Given the description of an element on the screen output the (x, y) to click on. 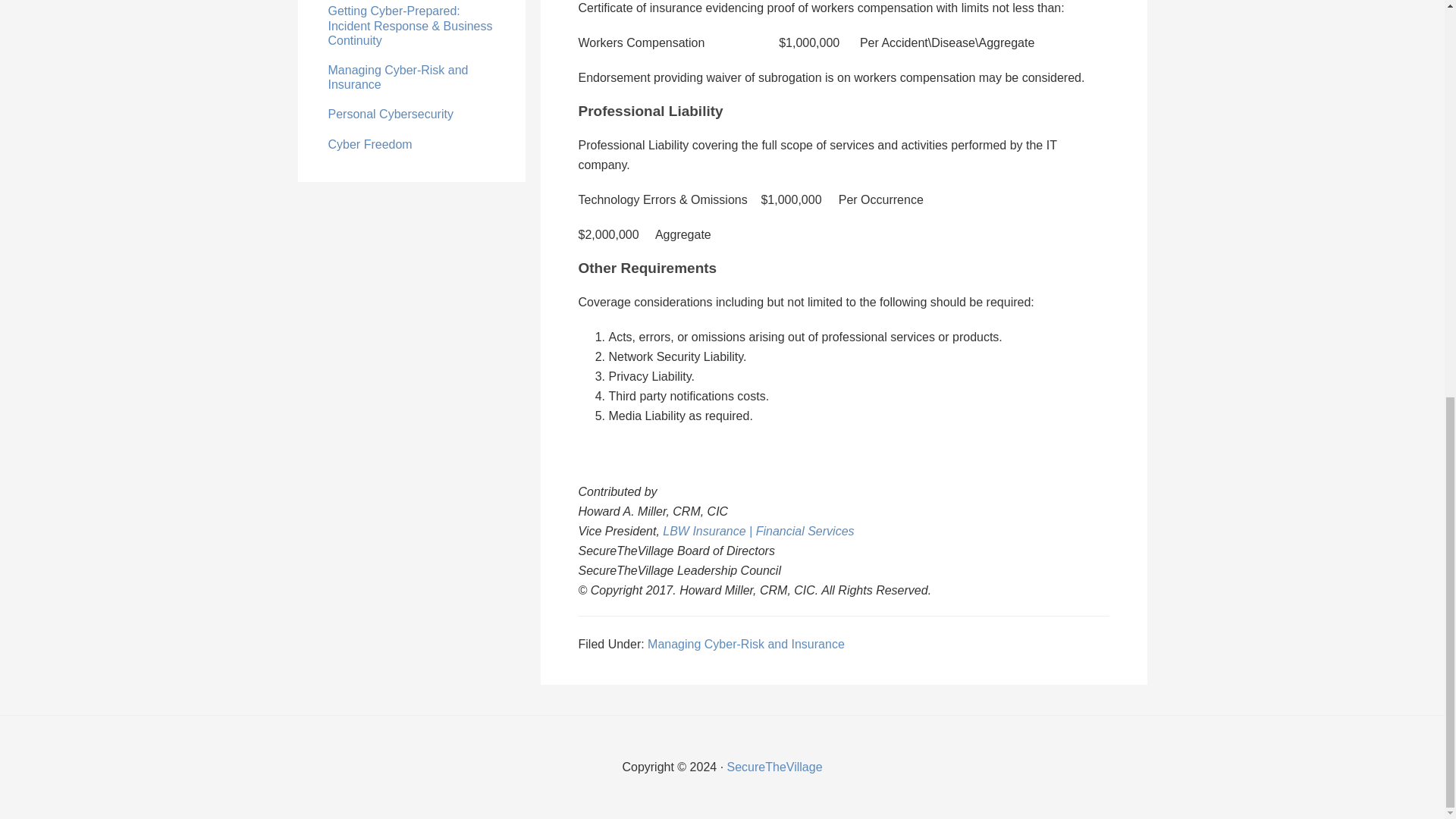
SecureTheVillage (774, 766)
Cyber Freedom (369, 144)
Personal Cybersecurity (389, 113)
Managing Cyber-Risk and Insurance (745, 644)
Managing Cyber-Risk and Insurance (397, 76)
